Given the description of an element on the screen output the (x, y) to click on. 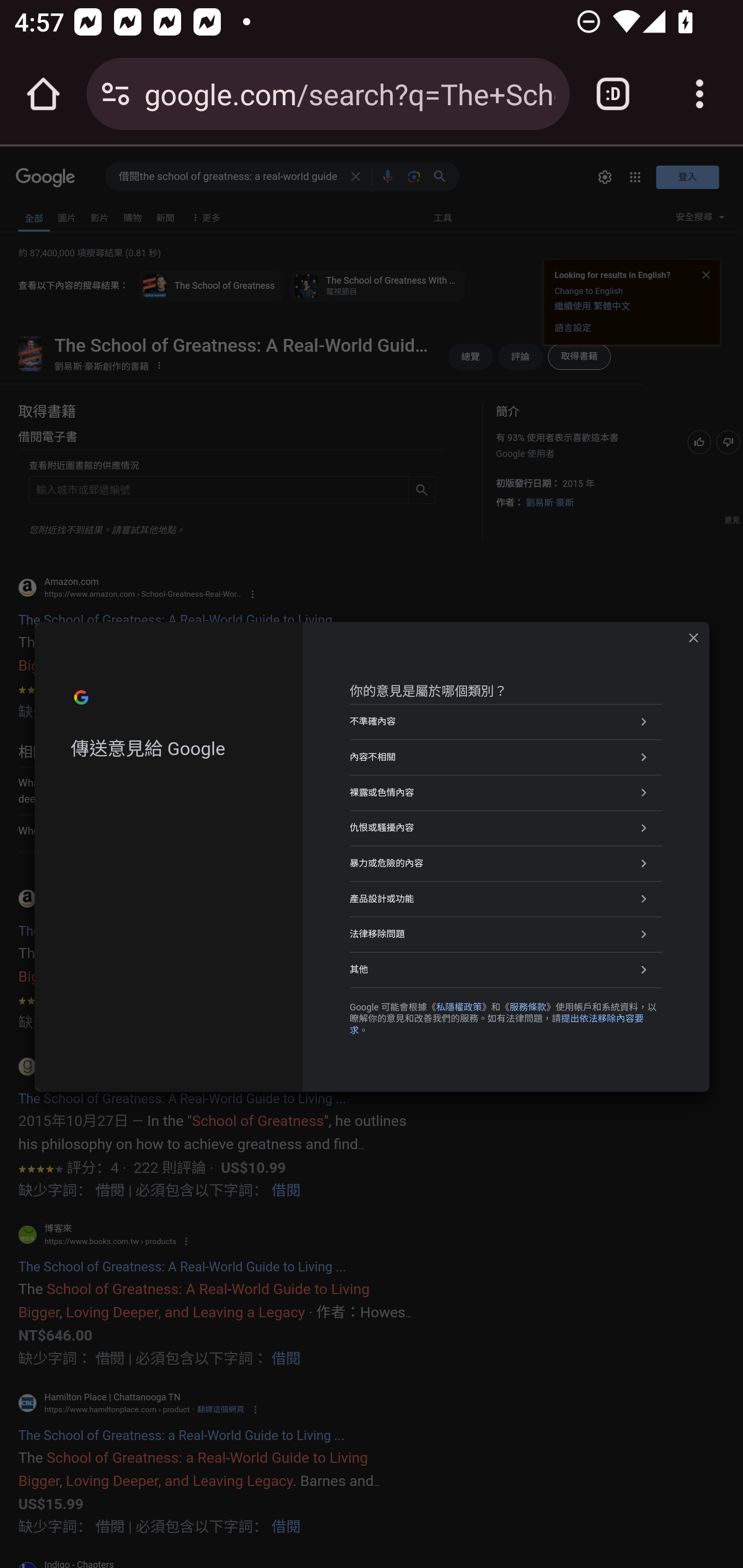
Open the home page (43, 93)
Connection is secure (115, 93)
Switch or close tabs (612, 93)
Customize and control Google Chrome (699, 93)
閂 (693, 637)
不準確內容 (505, 722)
內容不相關 (505, 756)
裸露或色情內容 (505, 792)
仇恨或騷擾內容 (505, 827)
暴力或危險的內容 (505, 863)
產品設計或功能 (505, 899)
法律移除問題 (505, 933)
其他 (505, 969)
私隱權政策 (458, 1006)
服務條款 (527, 1006)
提出依法移除內容要求 (496, 1024)
